Given the description of an element on the screen output the (x, y) to click on. 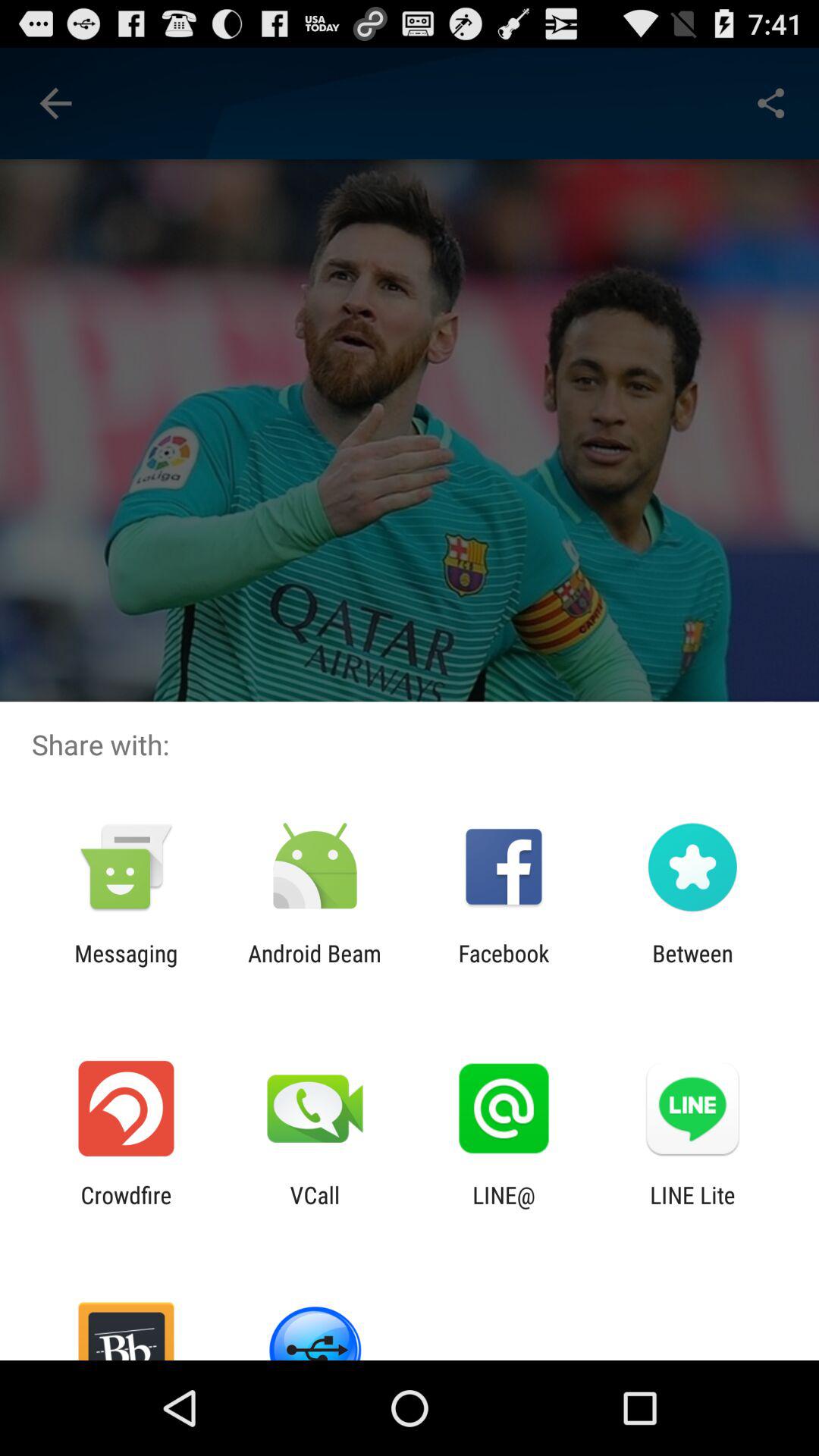
tap the crowdfire app (125, 1208)
